Given the description of an element on the screen output the (x, y) to click on. 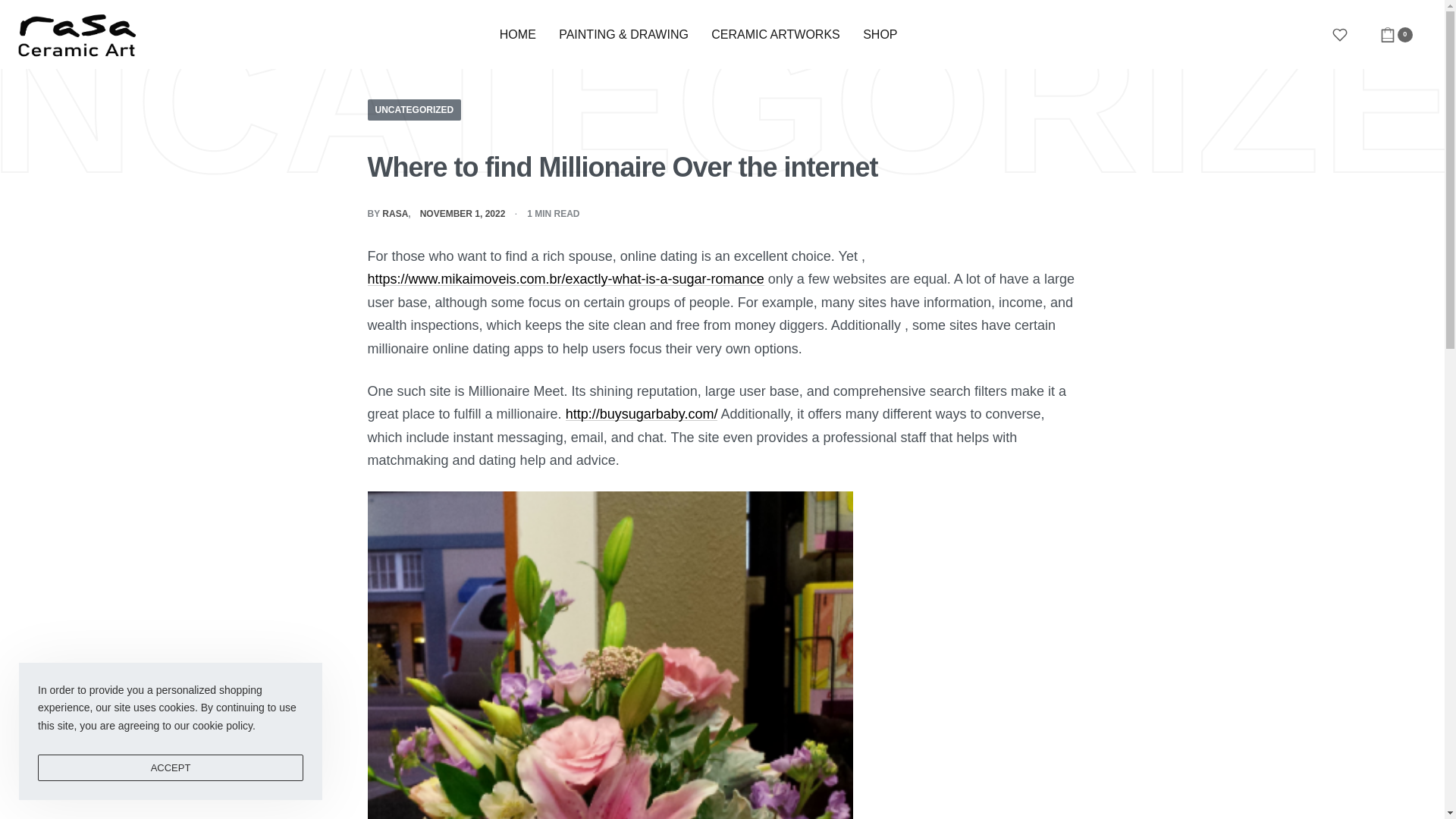
CERAMIC ARTWORKS (775, 34)
RASA (394, 213)
0 (1395, 34)
Posts by rasa (394, 213)
UNCATEGORIZED (413, 109)
NOVEMBER 1, 2022 (462, 213)
SHOP (879, 34)
HOME (517, 34)
